Given the description of an element on the screen output the (x, y) to click on. 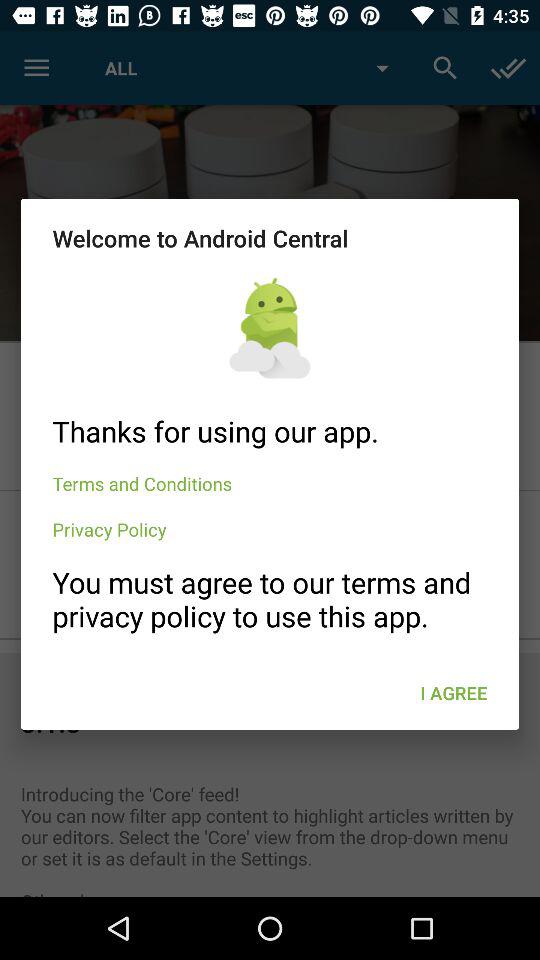
launch the item at the bottom right corner (453, 692)
